Given the description of an element on the screen output the (x, y) to click on. 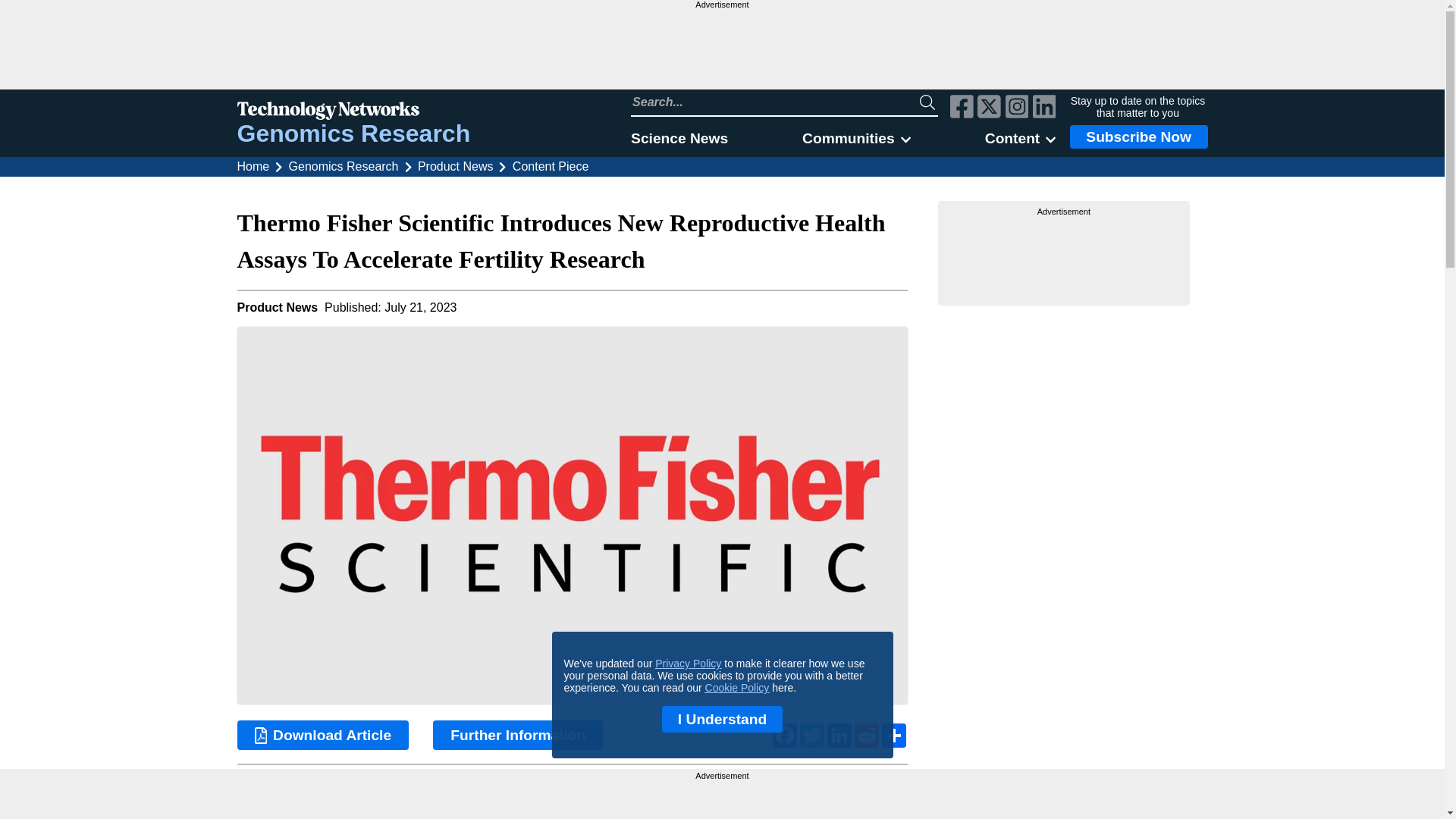
Search Technology Networks website input field (775, 102)
Technology Networks logo (352, 112)
I Understand (722, 718)
Cookie Policy (737, 687)
Privacy Policy (687, 663)
